Given the description of an element on the screen output the (x, y) to click on. 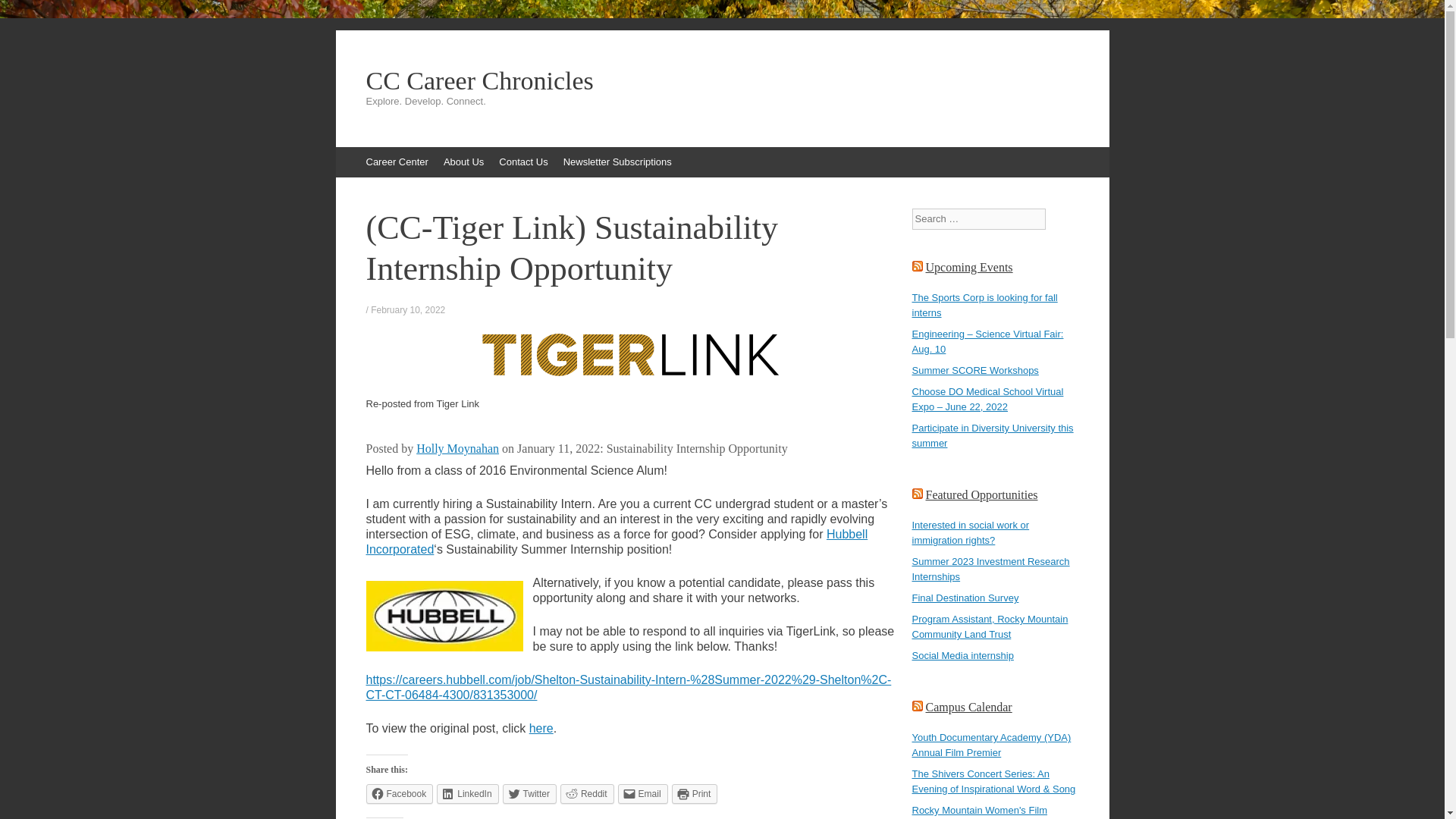
Learn more about our team. (463, 162)
LinkedIn (466, 793)
Click to email this to a friend (642, 793)
Career Center (396, 162)
Email (642, 793)
February 10, 2022 (408, 309)
Click to share on Reddit (587, 793)
Click to share on Facebook (398, 793)
here (541, 727)
Search (23, 15)
Reddit (587, 793)
Print (694, 793)
Want to share a message with us? (523, 162)
Click to print (694, 793)
